Given the description of an element on the screen output the (x, y) to click on. 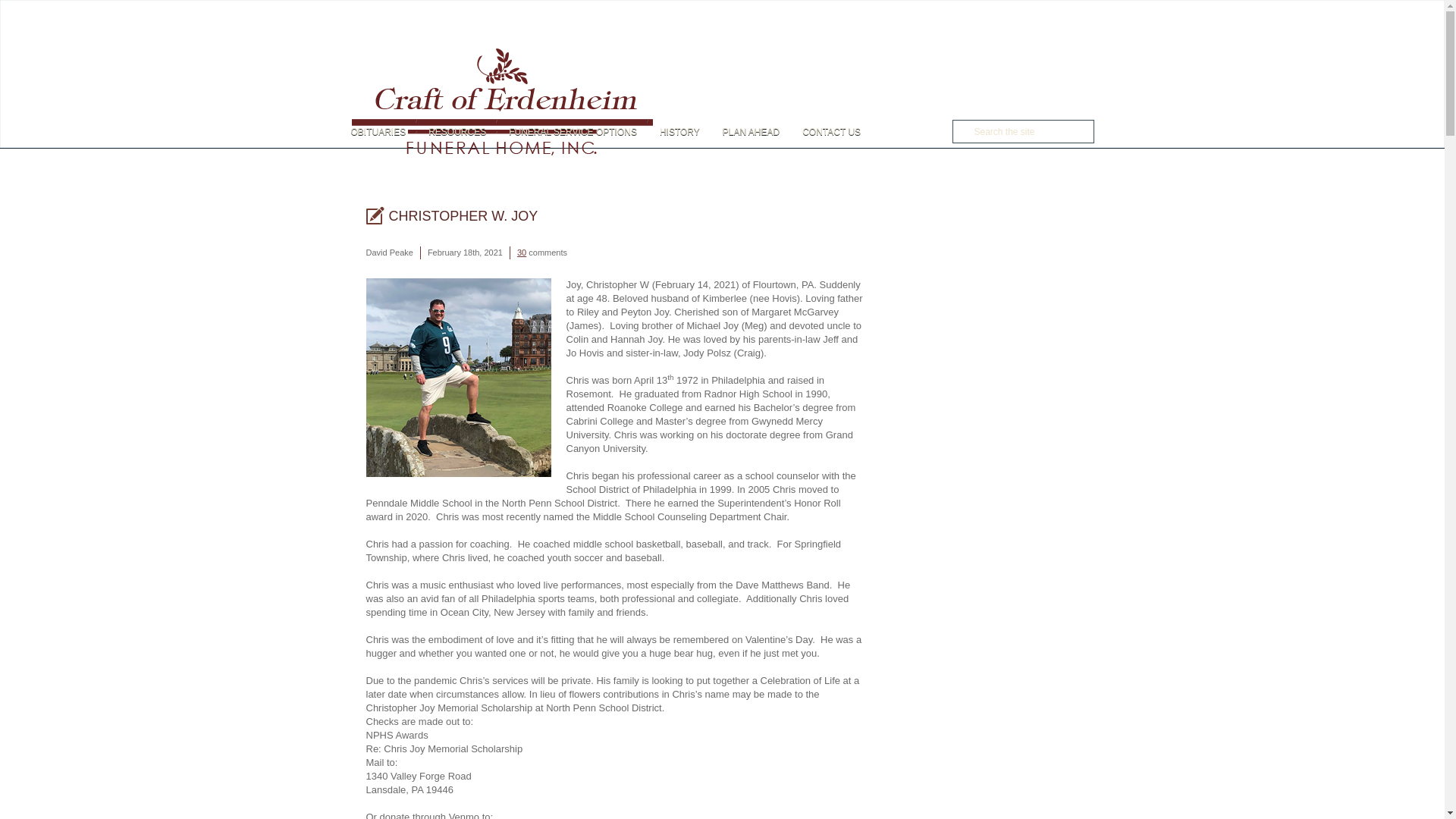
RESOURCES (456, 131)
PLAN AHEAD (750, 131)
FUNERAL SERVICE OPTIONS (572, 131)
OBITUARIES (383, 131)
HISTORY (679, 131)
Search the site (1022, 131)
30 (520, 252)
CONTACT US (831, 131)
